Given the description of an element on the screen output the (x, y) to click on. 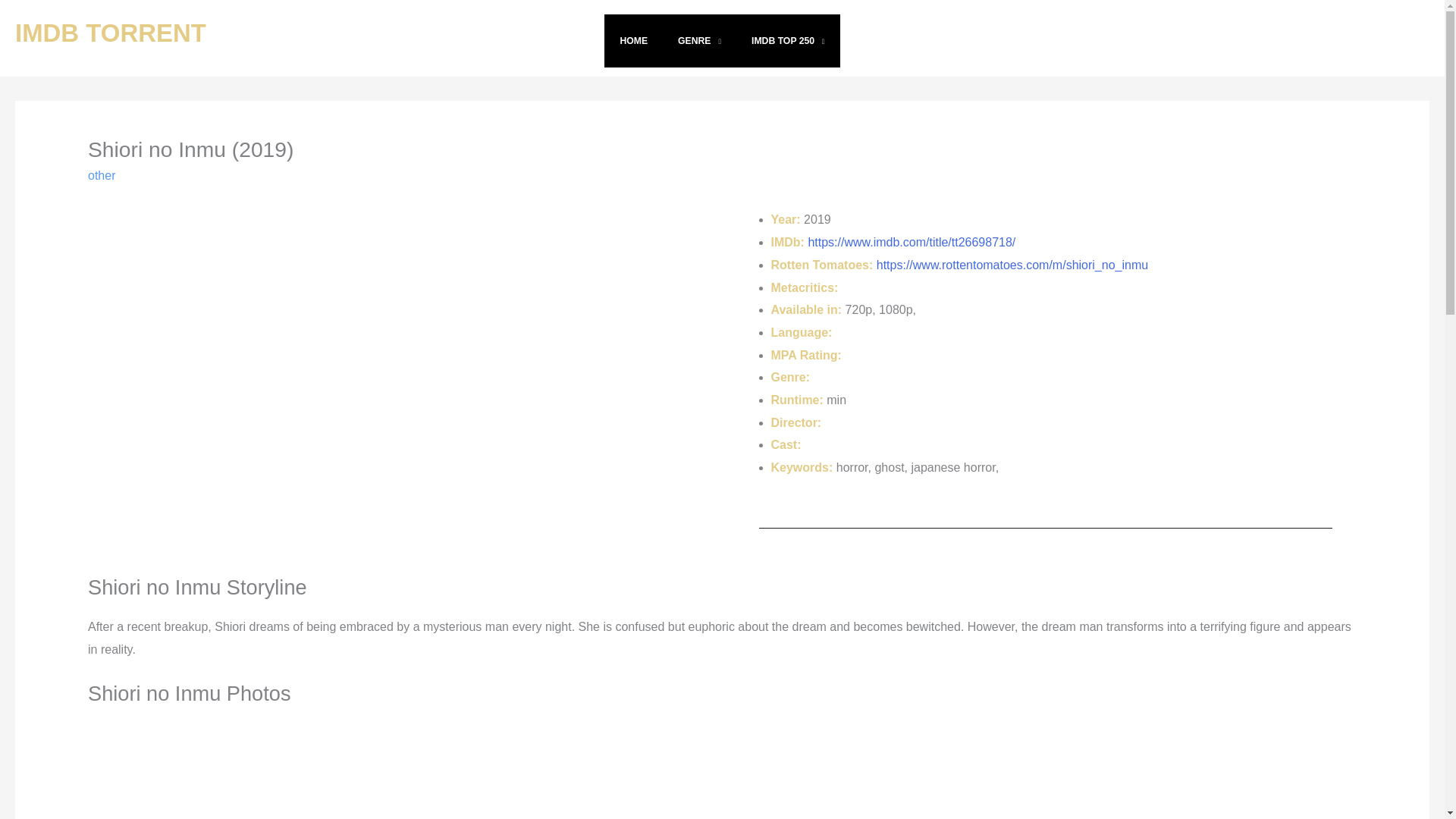
HOME (633, 40)
IMDB TORRENT (110, 32)
GENRE (699, 40)
IMDB TOP 250 (788, 40)
